Given the description of an element on the screen output the (x, y) to click on. 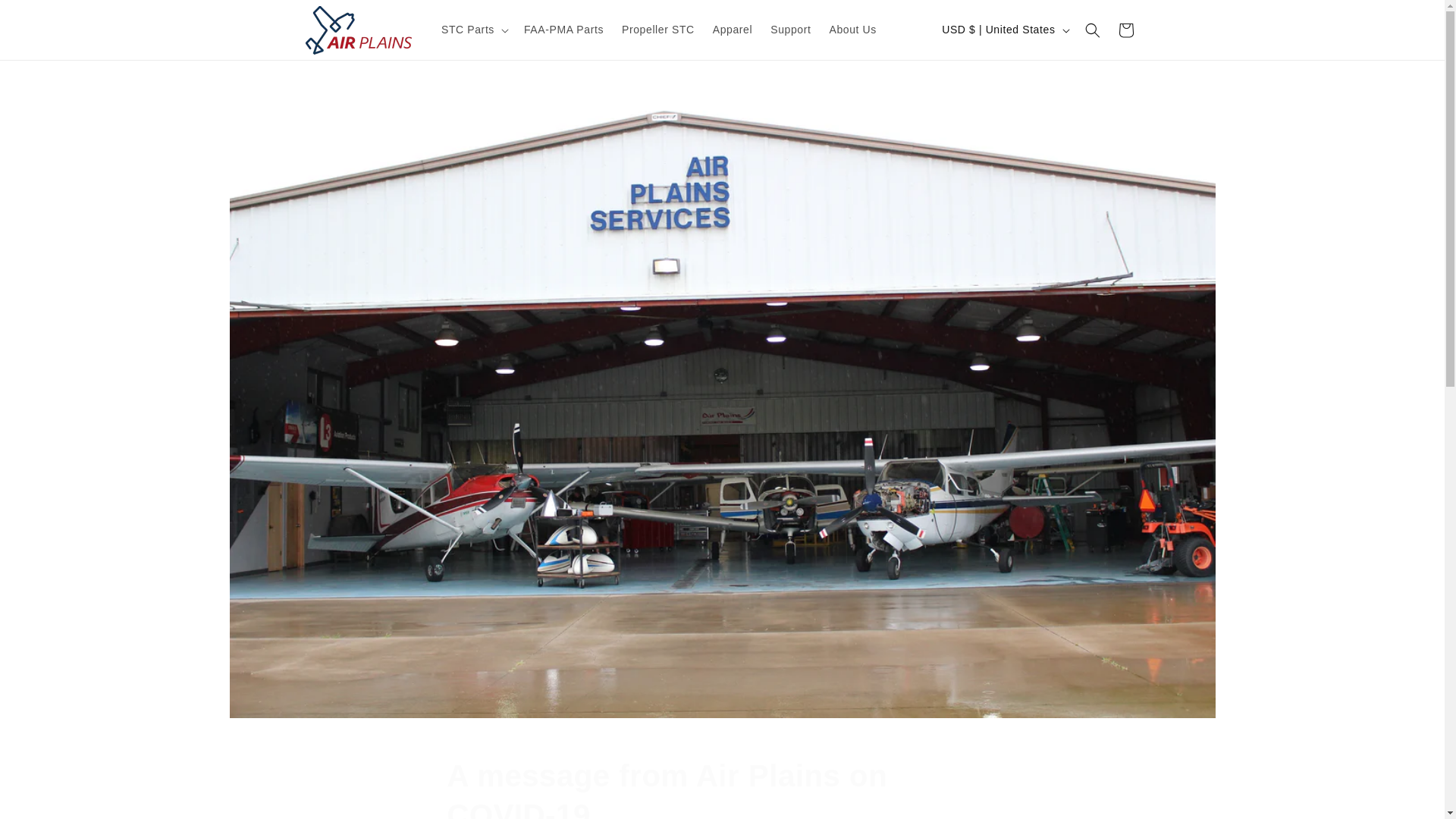
FAA-PMA Parts (563, 29)
Skip to content (721, 787)
Apparel (45, 17)
Cart (732, 29)
Propeller STC (1124, 29)
About Us (657, 29)
Support (852, 29)
